Given the description of an element on the screen output the (x, y) to click on. 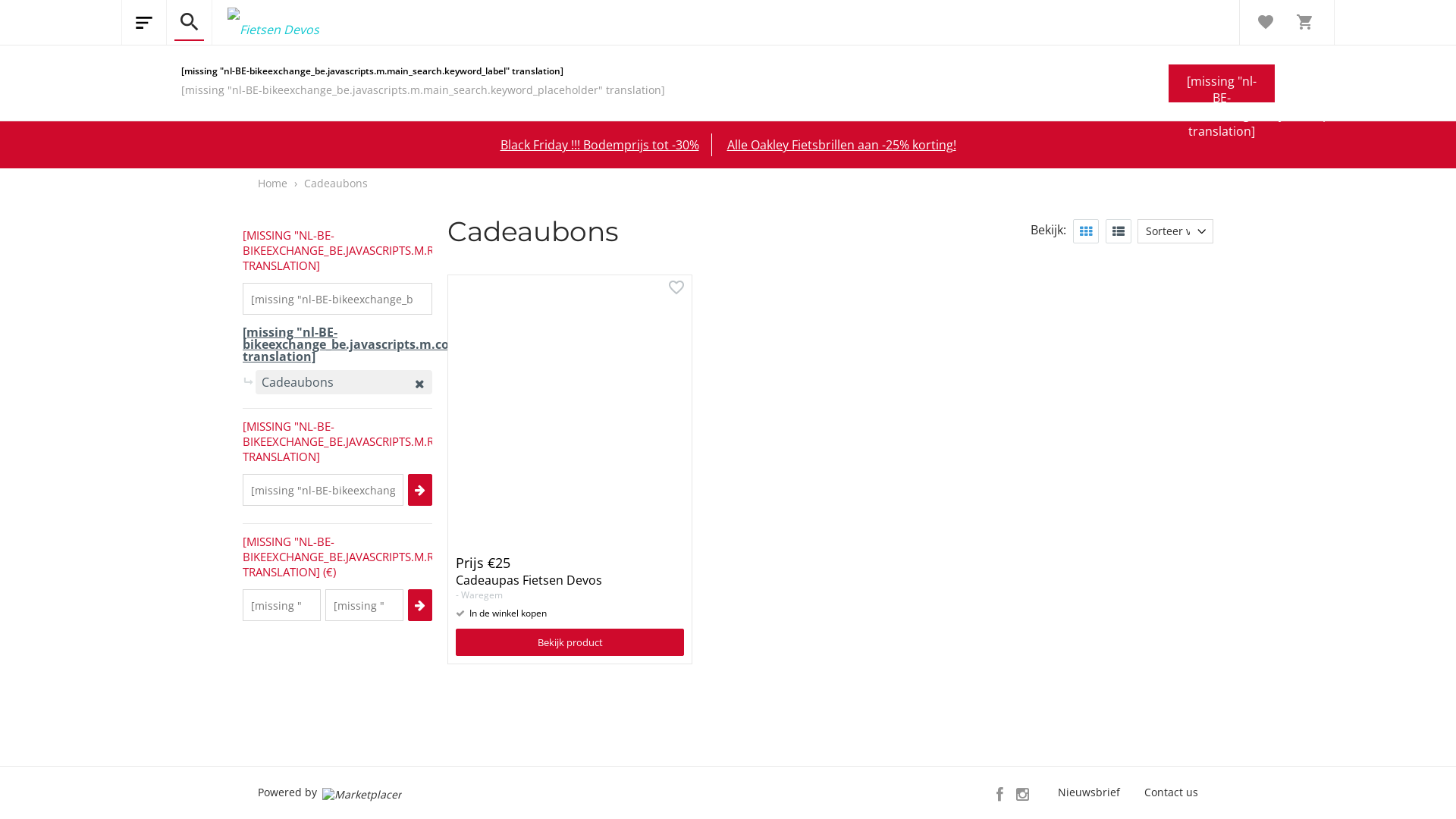
Contact us Element type: text (1171, 792)
Alle Oakley Fietsbrillen aan -25% korting! Element type: text (840, 144)
Nieuwsbrief Element type: text (1088, 792)
Fietsen Devos Home pagina Element type: hover (265, 22)
Cadeaubons Element type: text (335, 182)
Bekijk product Element type: text (569, 641)
Cadeaupas Fietsen Devos Element type: text (528, 579)
Home Element type: text (272, 182)
Black Friday !!! Bodemprijs tot -30% Element type: text (599, 144)
Marketplacer, www.marketplacer.com Element type: hover (361, 792)
